Given the description of an element on the screen output the (x, y) to click on. 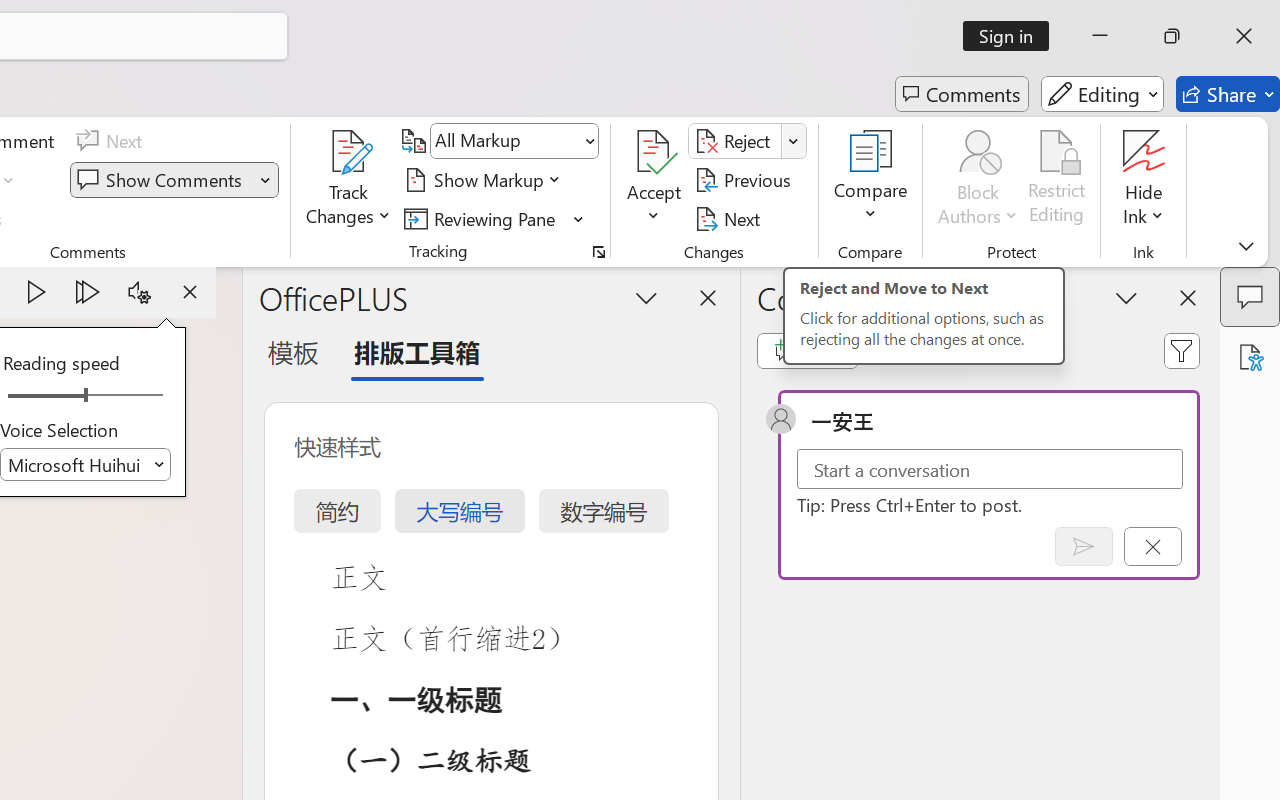
Stop (190, 292)
Editing (1101, 94)
Page right (129, 395)
Display for Review (514, 141)
Cancel (1152, 546)
Reject (747, 141)
Block Authors (977, 151)
Hide Ink (1144, 179)
